Given the description of an element on the screen output the (x, y) to click on. 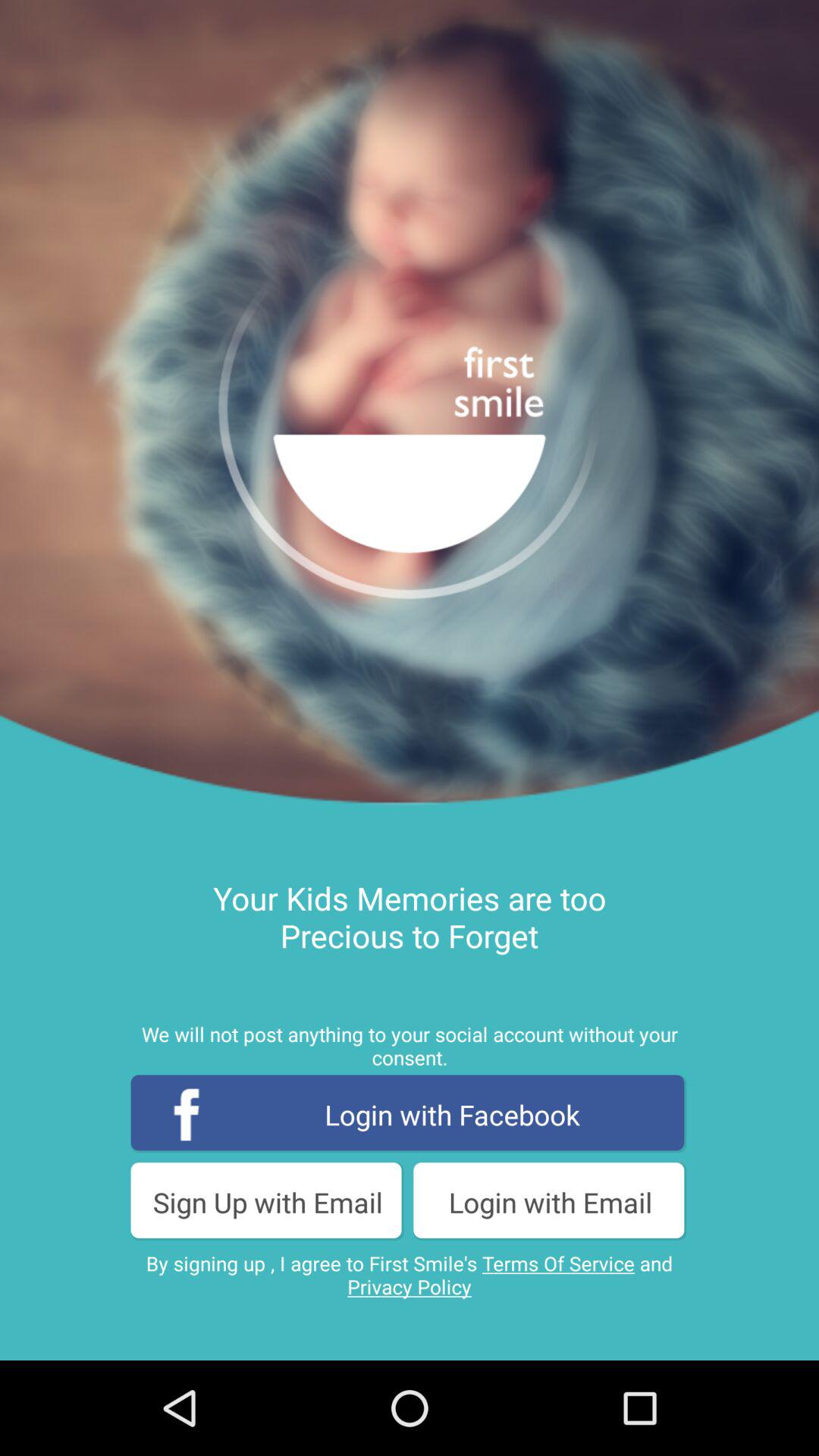
press sign up with at the bottom left corner (267, 1202)
